Given the description of an element on the screen output the (x, y) to click on. 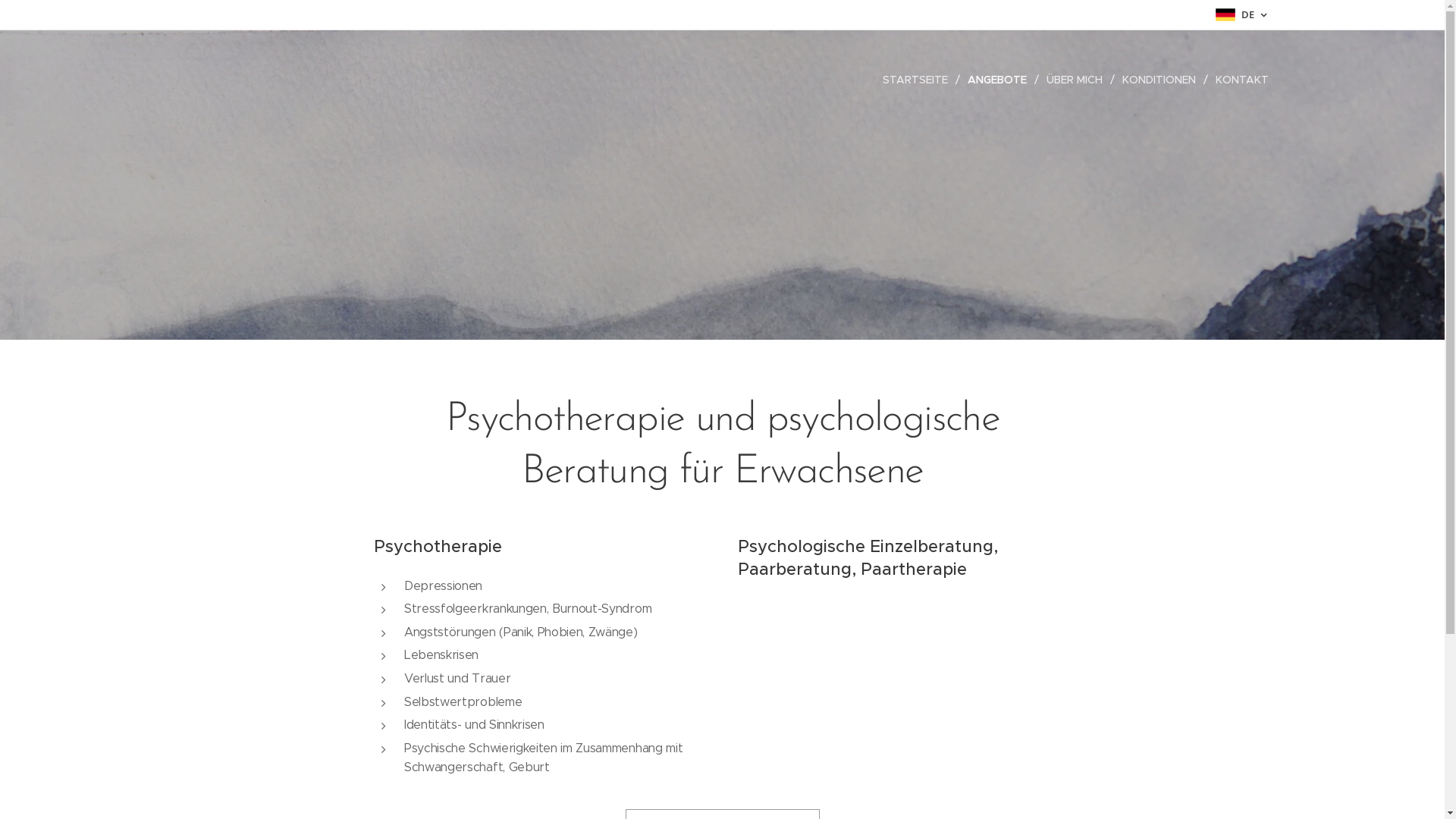
STARTSEITE Element type: text (918, 79)
KONDITIONEN Element type: text (1161, 79)
ANGEBOTE Element type: text (999, 79)
KONTAKT Element type: text (1237, 79)
